Given the description of an element on the screen output the (x, y) to click on. 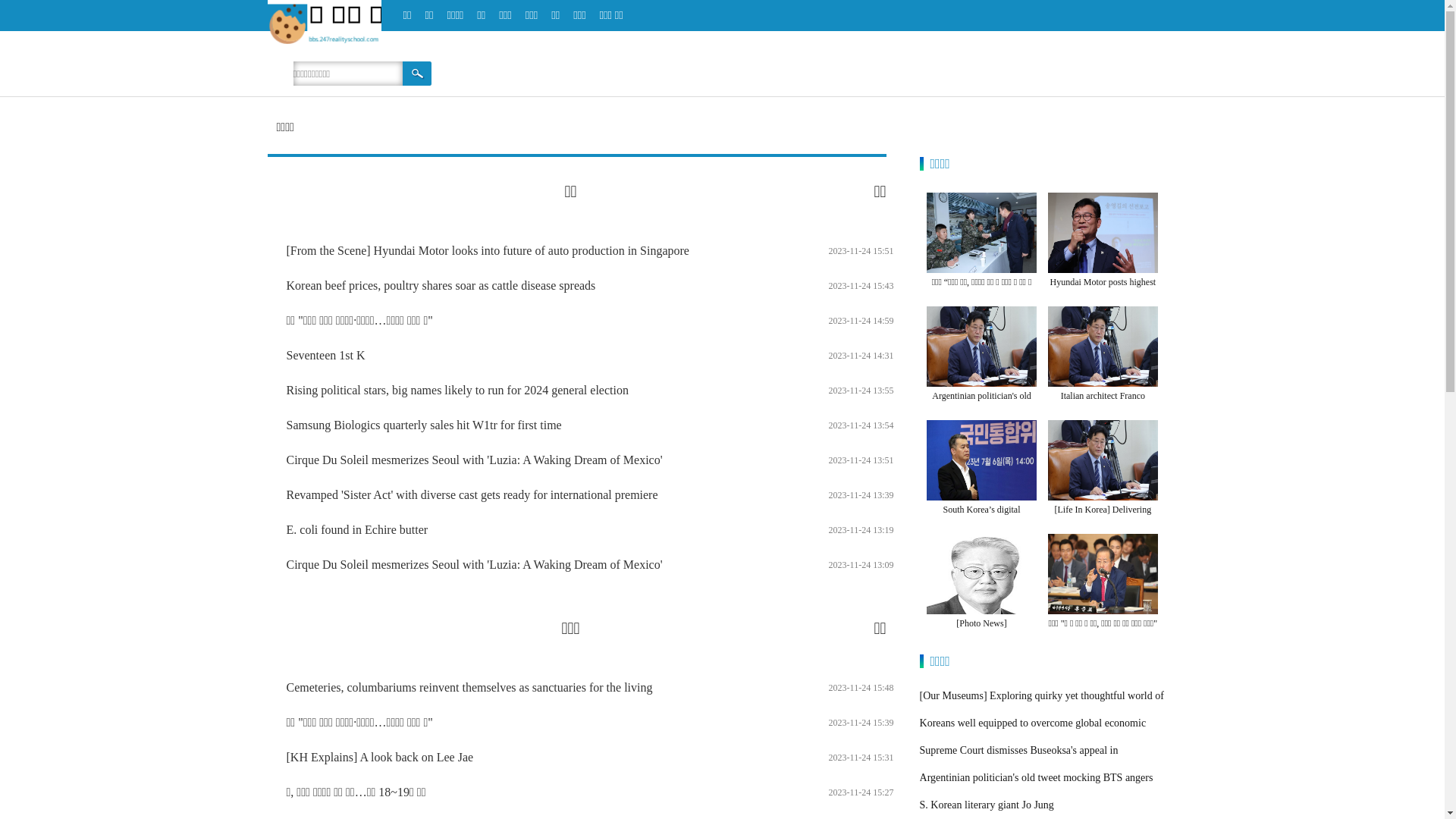
Seventeen 1st K Element type: text (325, 354)
S. Korean literary giant Jo Jung Element type: text (986, 804)
[Life In Korea] Delivering 'taste of life' via street art Element type: text (1102, 518)
E. coli found in Echire butter Element type: text (357, 529)
Samsung Biologics quarterly sales hit W1tr for first time Element type: text (423, 424)
Argentinian politician's old tweet mocking BTS angers fans Element type: text (981, 413)
Argentinian politician's old tweet mocking BTS angers fans Element type: text (1036, 790)
Hyundai Motor posts highest Q3 earnings on upbeat US sales Element type: text (1103, 299)
[Photo News] Commemoration for Itaewon tragedy in Gwangju Element type: text (981, 641)
[KH Explains] A look back on Lee Jae Element type: text (379, 756)
